Given the description of an element on the screen output the (x, y) to click on. 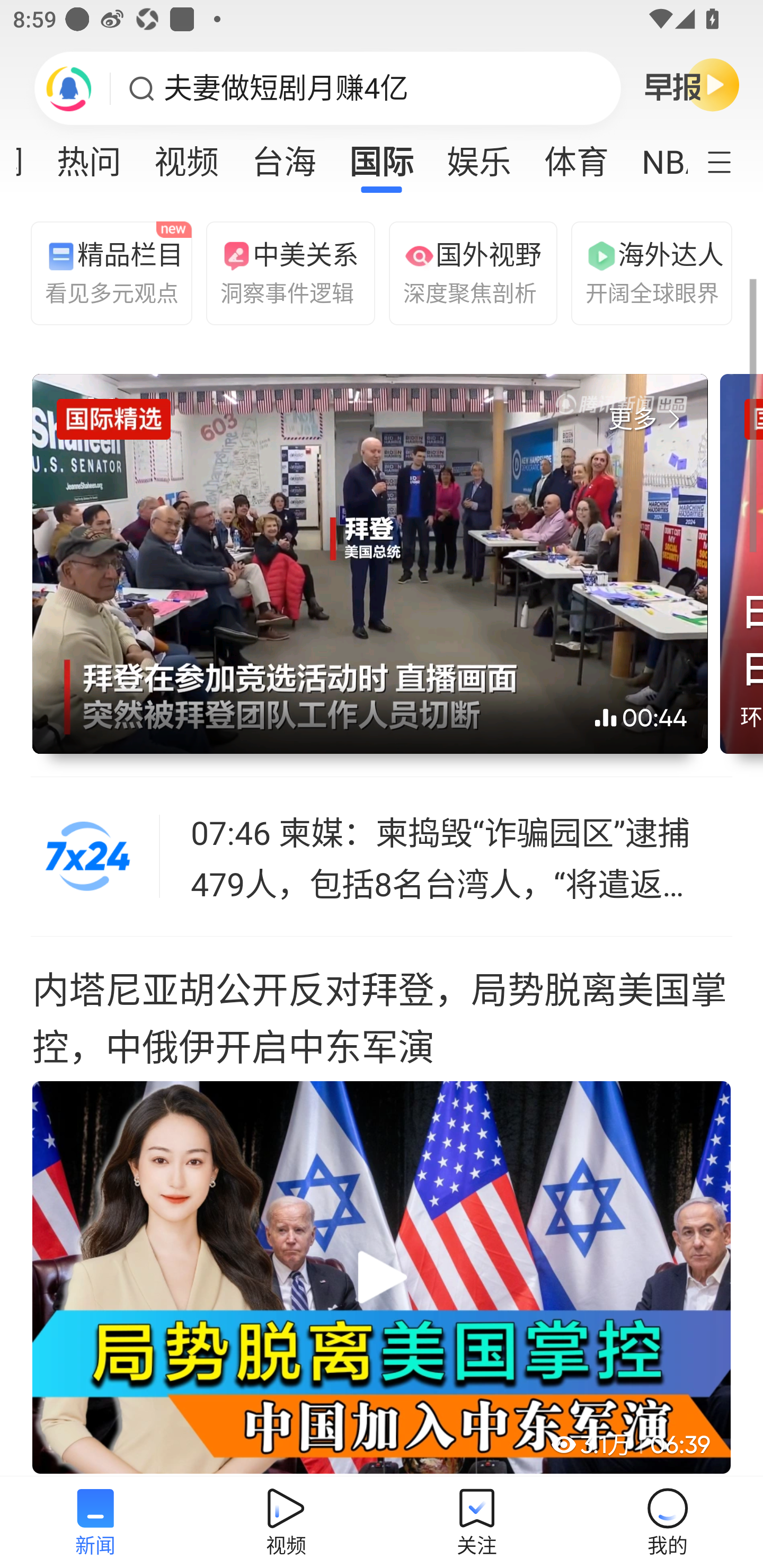
早晚报 (691, 84)
刷新 (68, 88)
夫妻做短剧月赚4亿 (286, 88)
热问 (89, 155)
视频 (186, 155)
台海 (283, 155)
国际 (381, 155)
娱乐 (478, 155)
体育 (575, 155)
NBA (655, 155)
 定制频道 (731, 160)
精品栏目 看见多元观点 (106, 272)
中美关系 洞察事件逻辑 (282, 272)
国外视野 深度聚焦剖析 (465, 272)
海外达人 开阔全球眼界 (647, 272)
更多  (648, 419)
07:46 柬媒：柬捣毁“诈骗园区”逮捕479人，包括8名台湾人，“将遣返回中国大陆” (461, 856)
内塔尼亚胡公开反对拜登，局势脱离美国掌控，中俄伊开启中东军演  3.1万 06:39 (381, 1206)
